Given the description of an element on the screen output the (x, y) to click on. 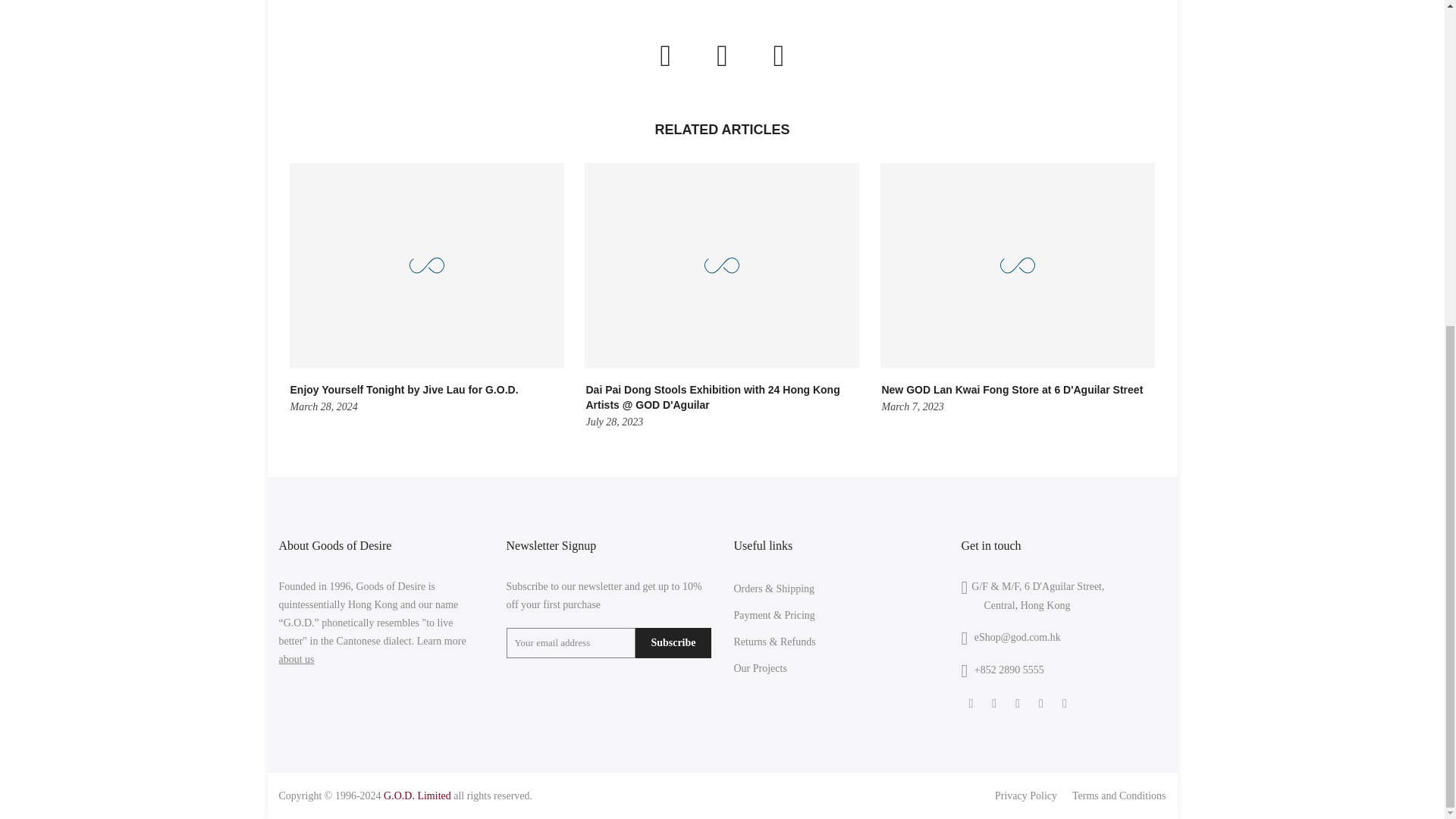
About Goods of Desire (296, 659)
